Given the description of an element on the screen output the (x, y) to click on. 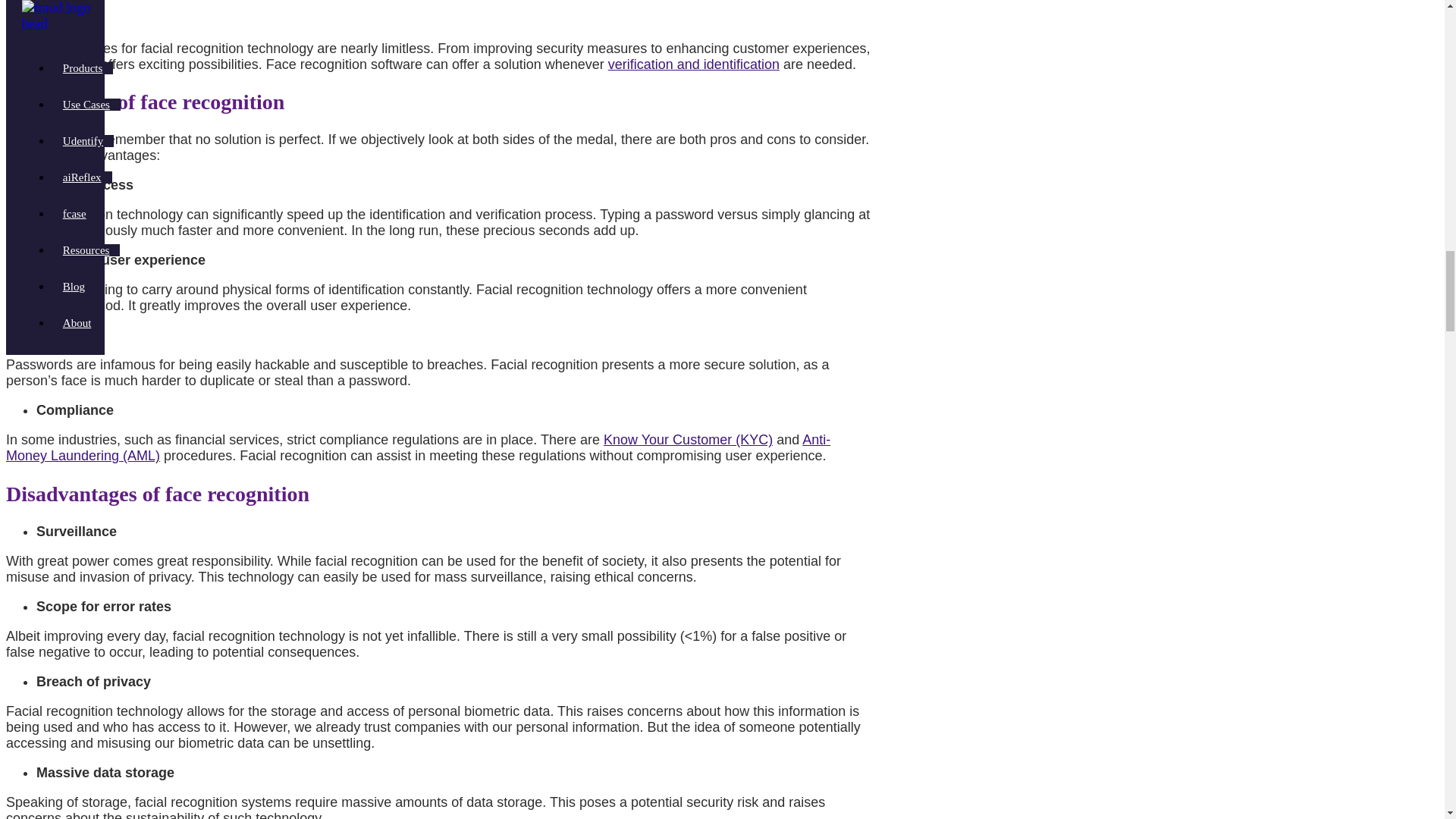
Glossary: Password (684, 214)
verification and identification (693, 64)
Glossary: Compliance (353, 439)
